Given the description of an element on the screen output the (x, y) to click on. 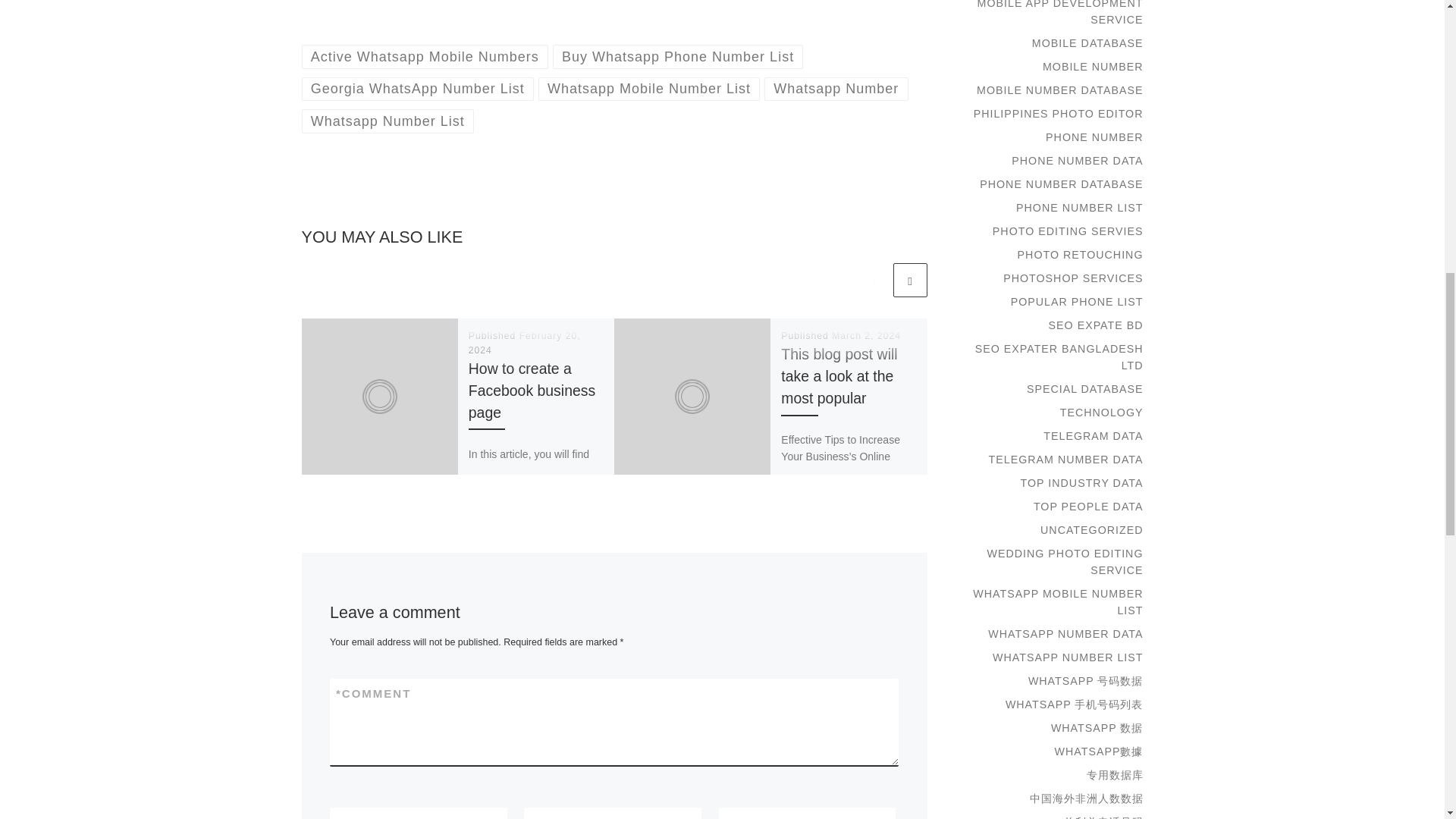
How to create a Facebook business page (531, 390)
View all posts in Whatsapp Mobile Number List (649, 88)
February 20, 2024 (524, 342)
This blog post will take a look at the most popular (838, 375)
Whatsapp Mobile Number List (649, 88)
Whatsapp Number List (387, 120)
View all posts in Active Whatsapp Mobile Numbers (424, 56)
Active Whatsapp Mobile Numbers (424, 56)
Buy Whatsapp Phone Number List (678, 56)
March 2, 2024 (866, 335)
